Given the description of an element on the screen output the (x, y) to click on. 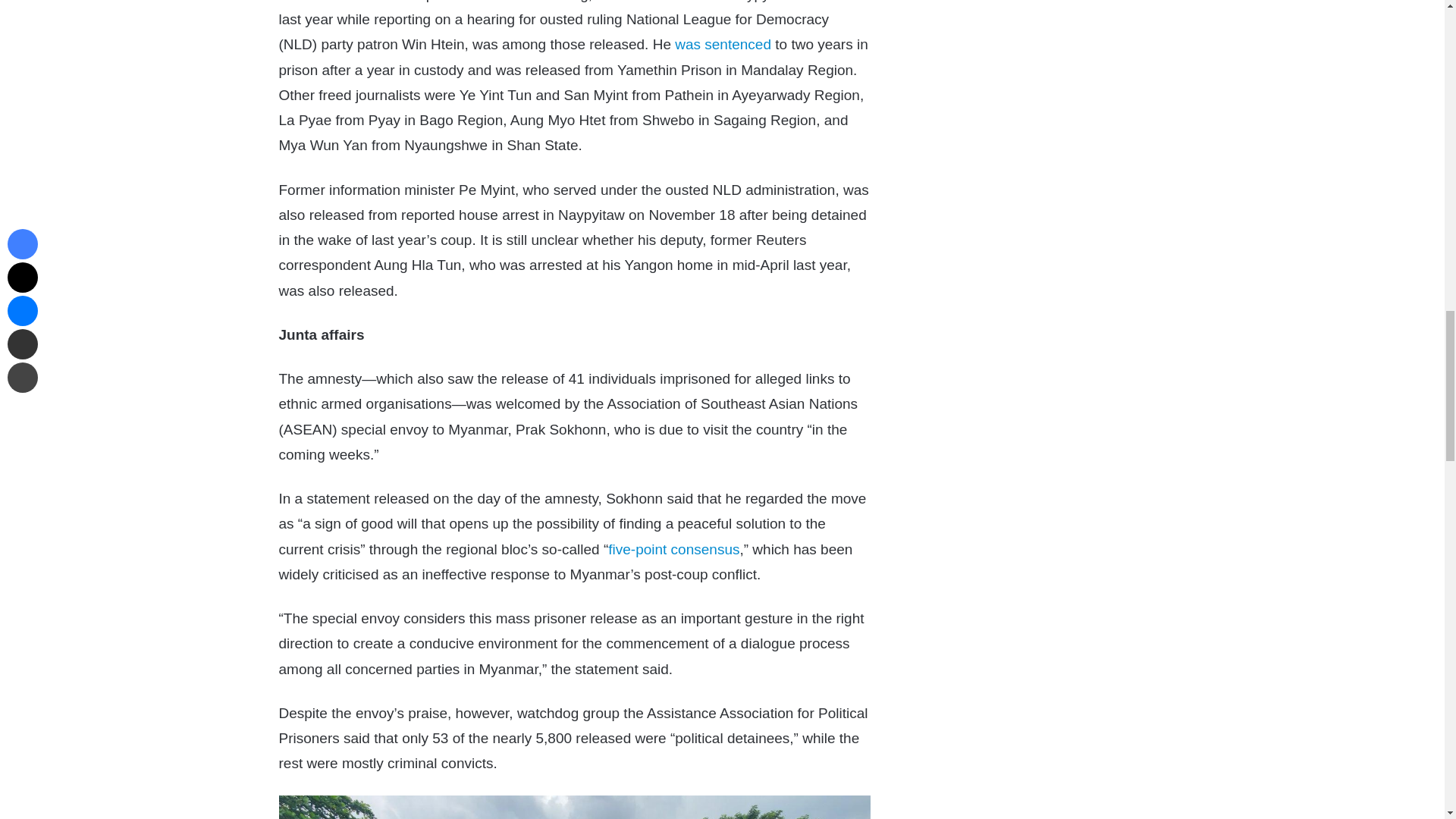
five-point consensus (673, 549)
was sentenced (723, 44)
was arrested (668, 1)
